Given the description of an element on the screen output the (x, y) to click on. 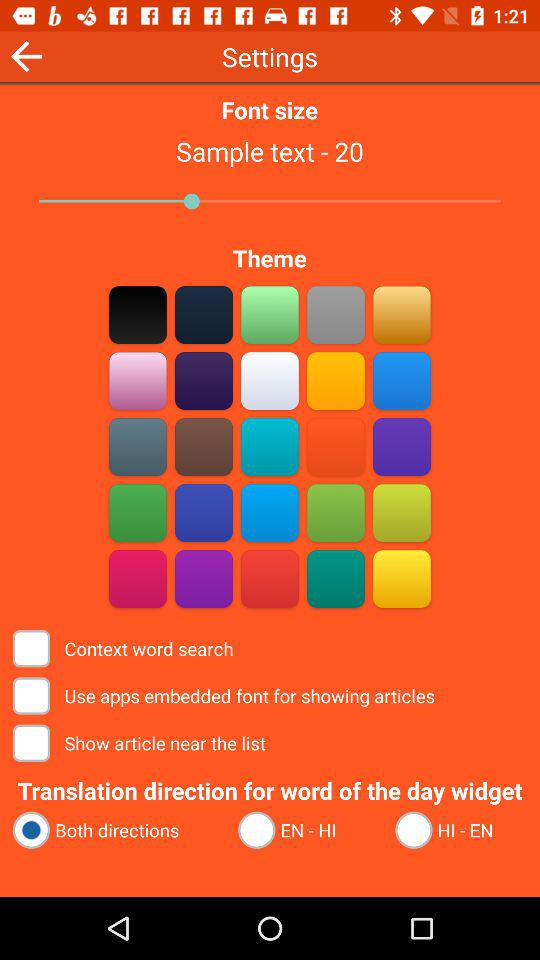
select color (269, 578)
